Given the description of an element on the screen output the (x, y) to click on. 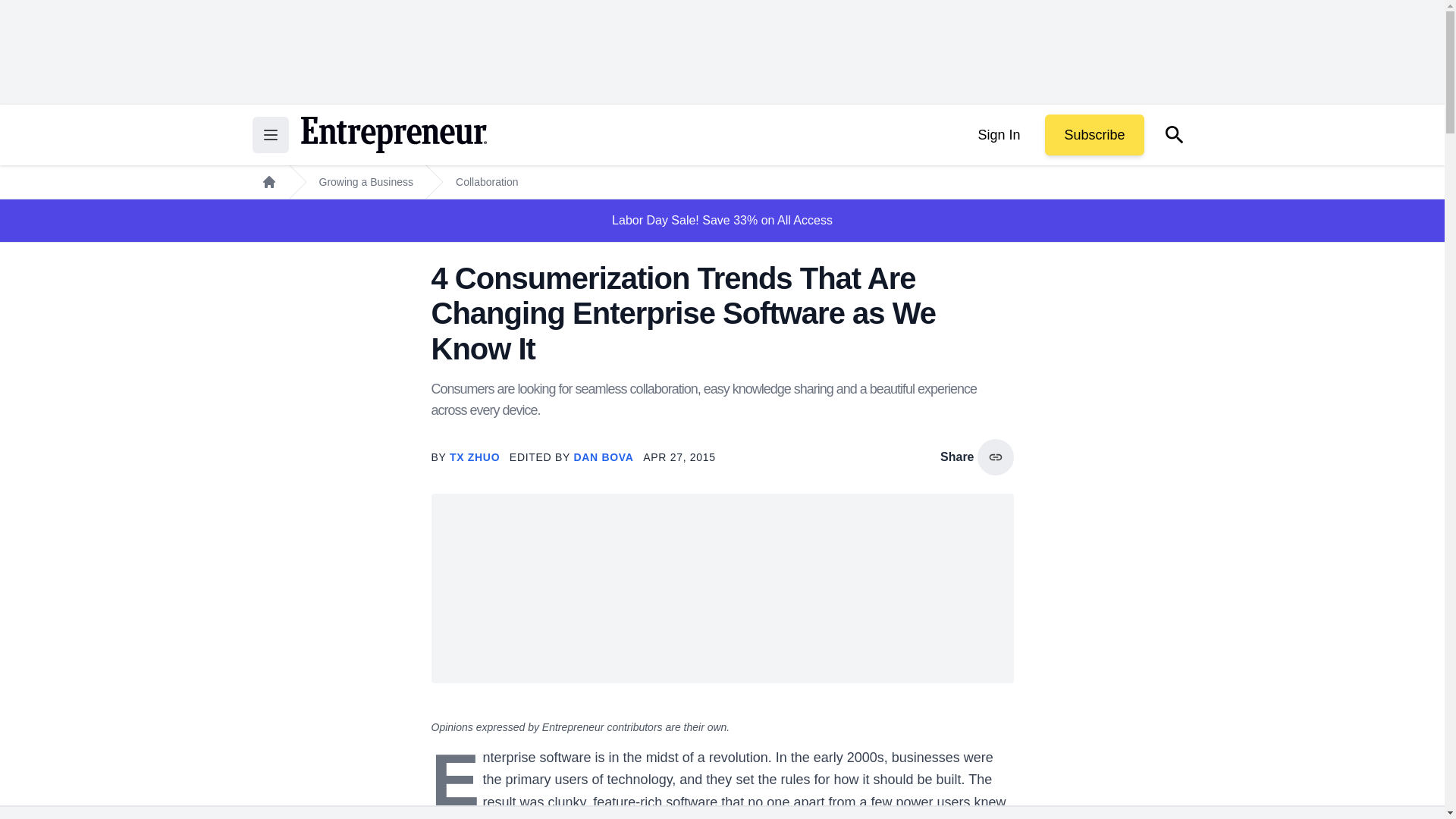
Sign In (998, 134)
Return to the home page (392, 135)
copy (994, 456)
Subscribe (1093, 134)
